Given the description of an element on the screen output the (x, y) to click on. 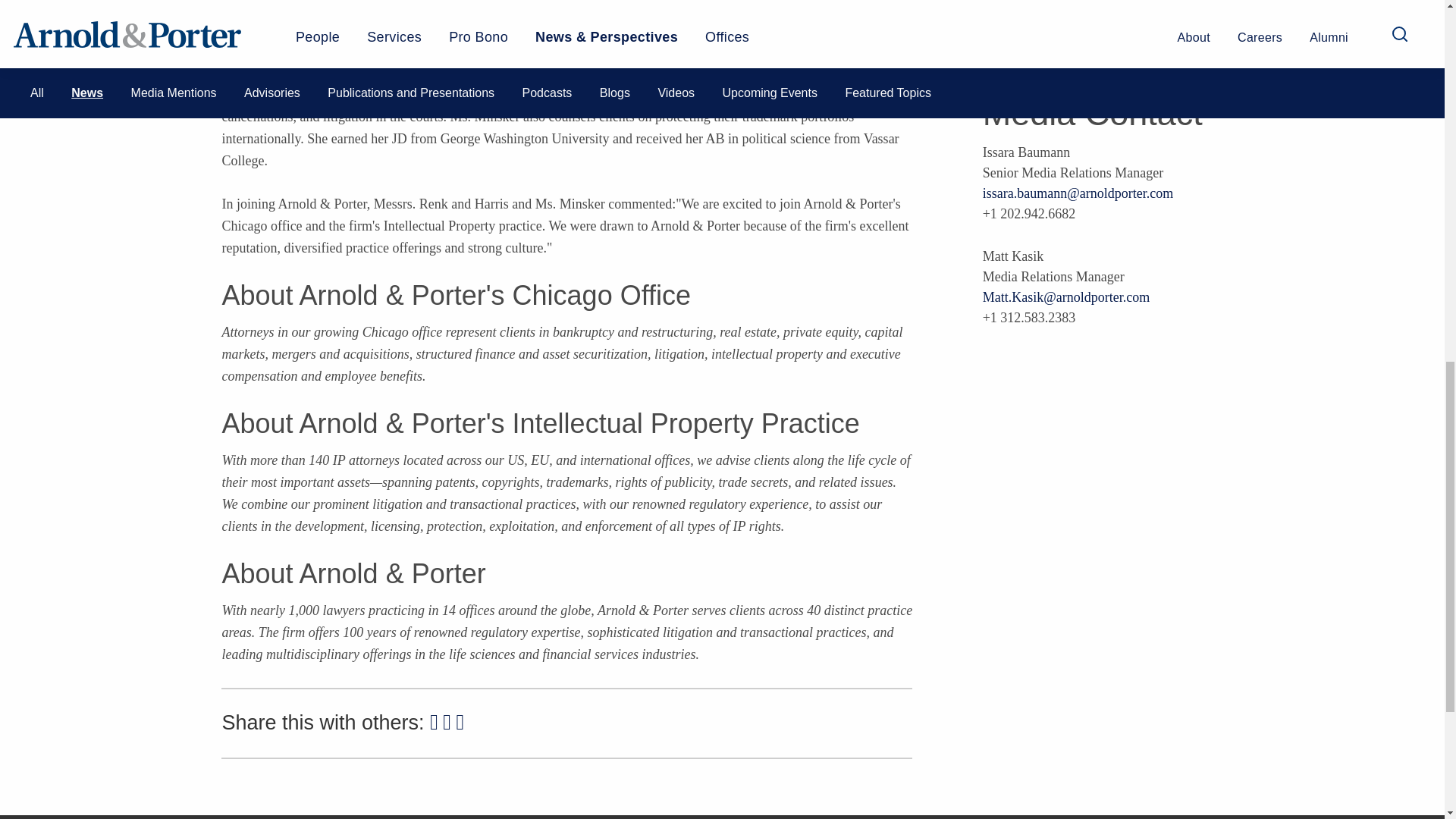
Helen Minsker (264, 51)
